Given the description of an element on the screen output the (x, y) to click on. 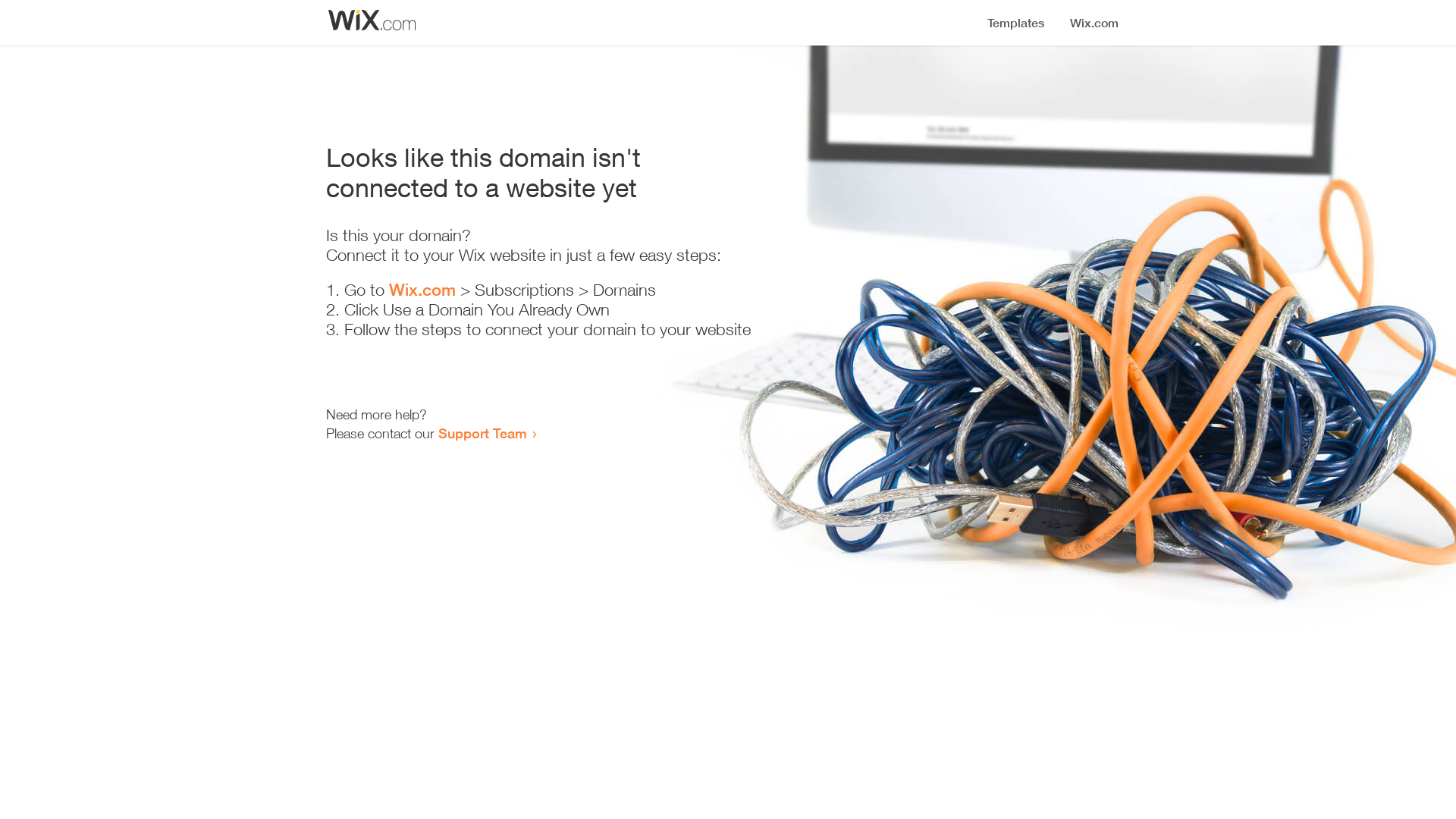
Support Team Element type: text (482, 432)
Wix.com Element type: text (422, 289)
